Given the description of an element on the screen output the (x, y) to click on. 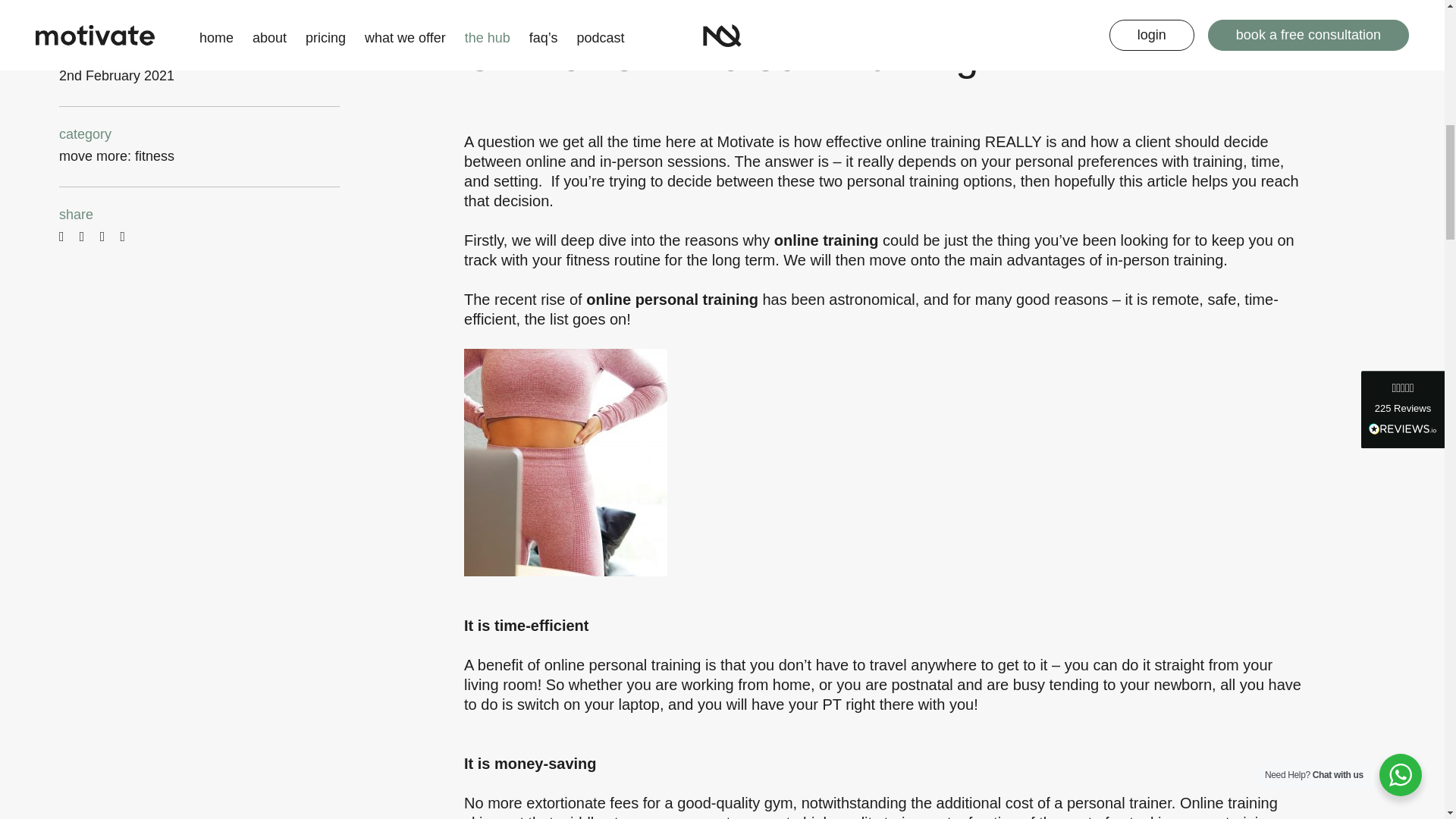
move more: fitness (116, 156)
